Given the description of an element on the screen output the (x, y) to click on. 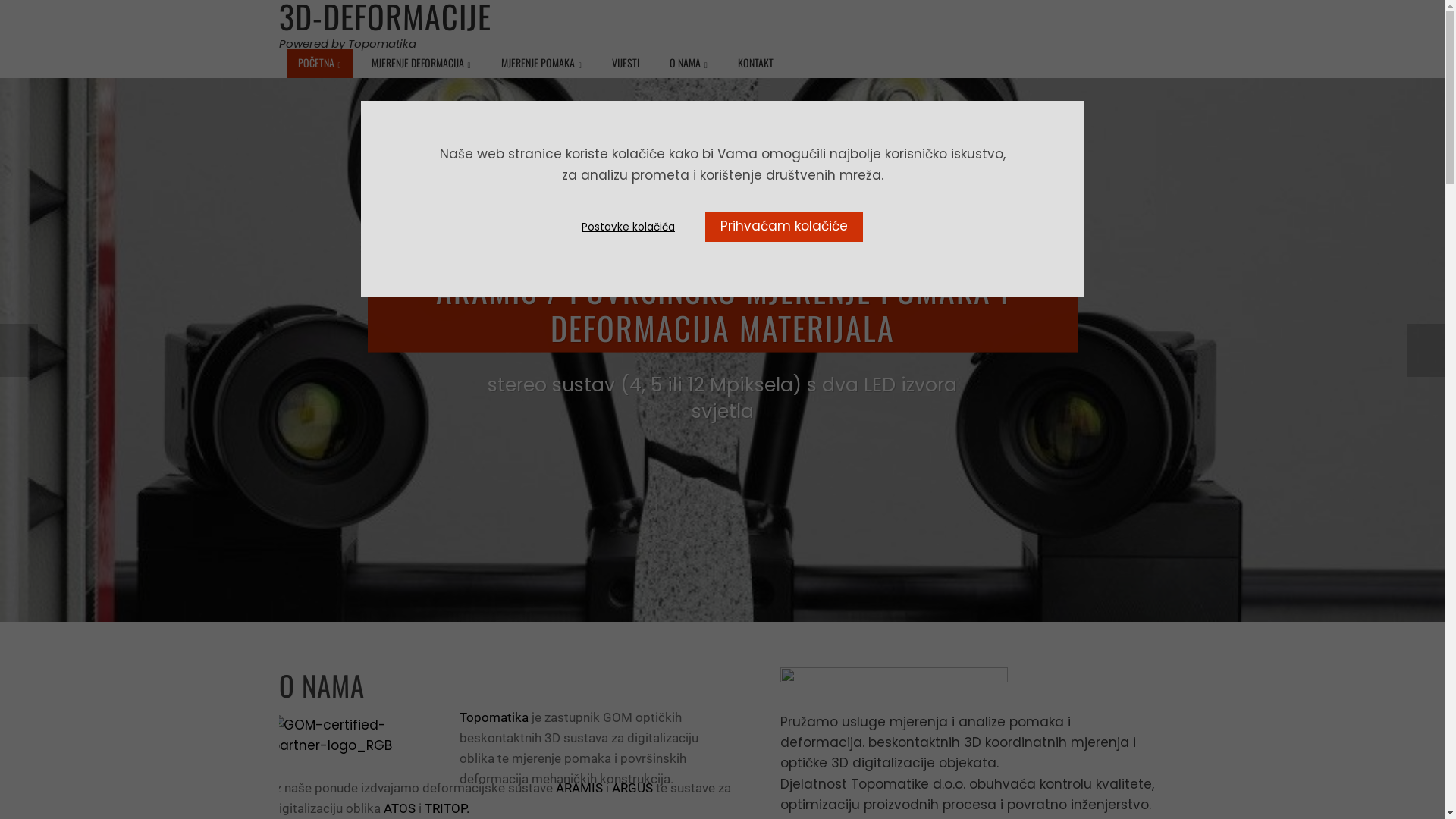
Topomatika Element type: text (493, 716)
Powered by Topomatika Element type: text (347, 43)
GOM-certified-partner-logo_RGB Element type: hover (346, 735)
Search Element type: text (38, 15)
ATOS Element type: text (399, 807)
ARGUS Element type: text (631, 787)
VIJESTI Element type: text (625, 62)
MJERENJE DEFORMACIJA Element type: text (421, 63)
MJERENJE POMAKA Element type: text (541, 63)
KONTAKT Element type: text (755, 62)
ARAMIS Element type: text (580, 787)
TRITOP. Element type: text (445, 807)
O NAMA Element type: text (688, 63)
